Given the description of an element on the screen output the (x, y) to click on. 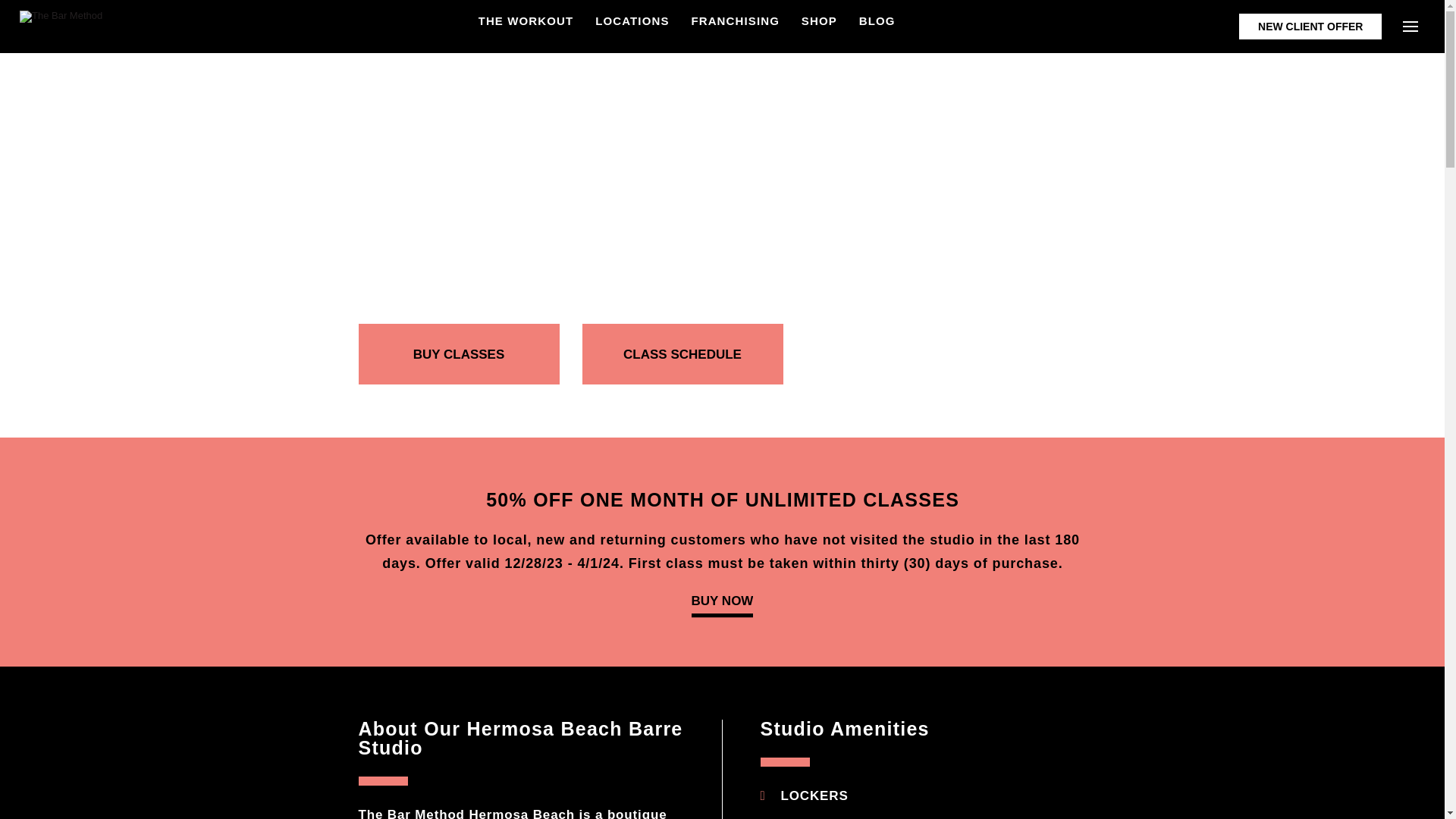
SHOP (818, 20)
BUY NOW (722, 603)
CLASS SCHEDULE (682, 353)
BUY CLASSES (458, 353)
NEW CLIENT OFFER (1310, 26)
310-376-3444 (521, 251)
LOCATIONS (631, 20)
FRANCHISING (733, 20)
BLOG (877, 20)
THE WORKOUT (526, 20)
